Given the description of an element on the screen output the (x, y) to click on. 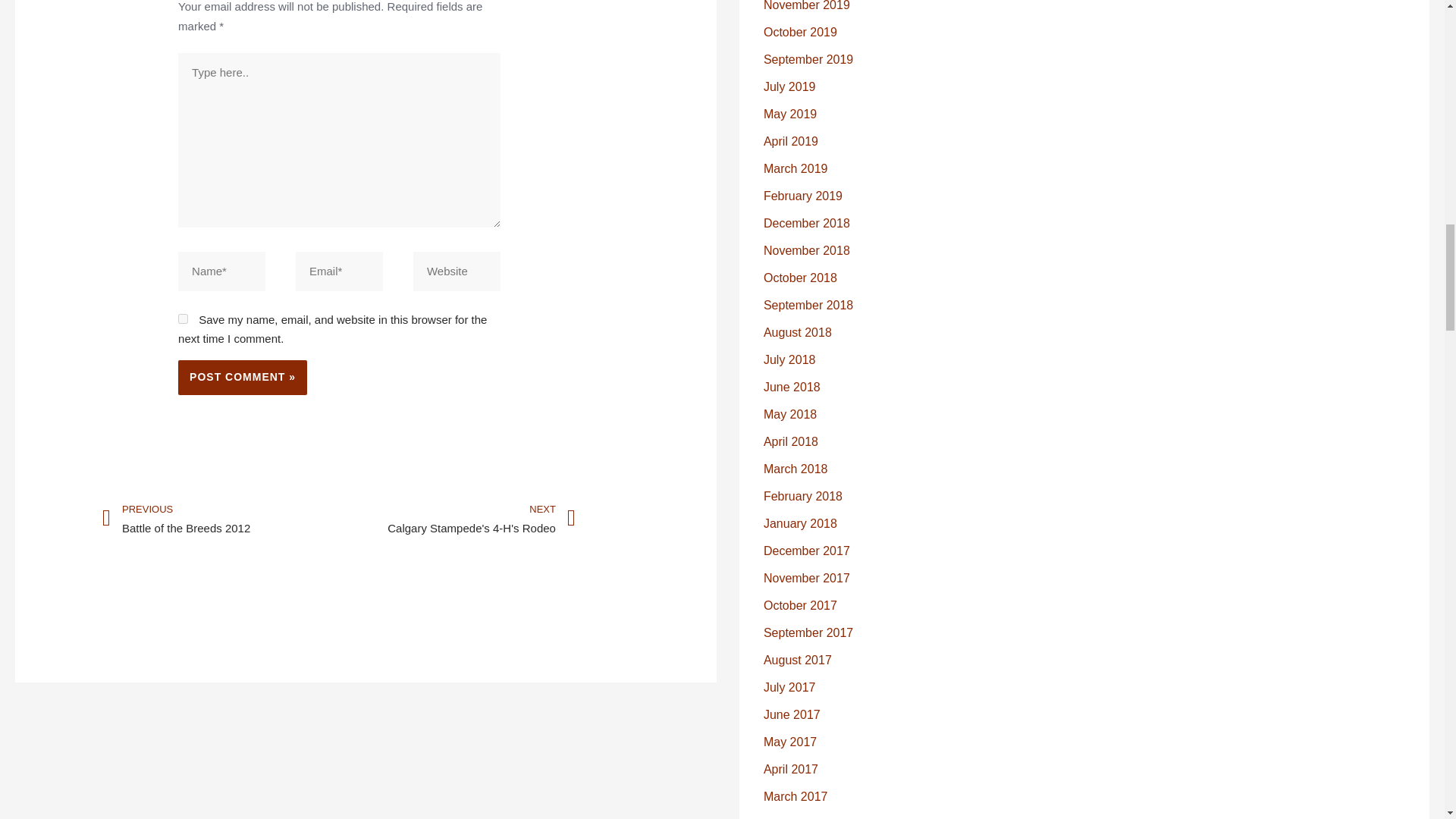
yes (182, 318)
